Given the description of an element on the screen output the (x, y) to click on. 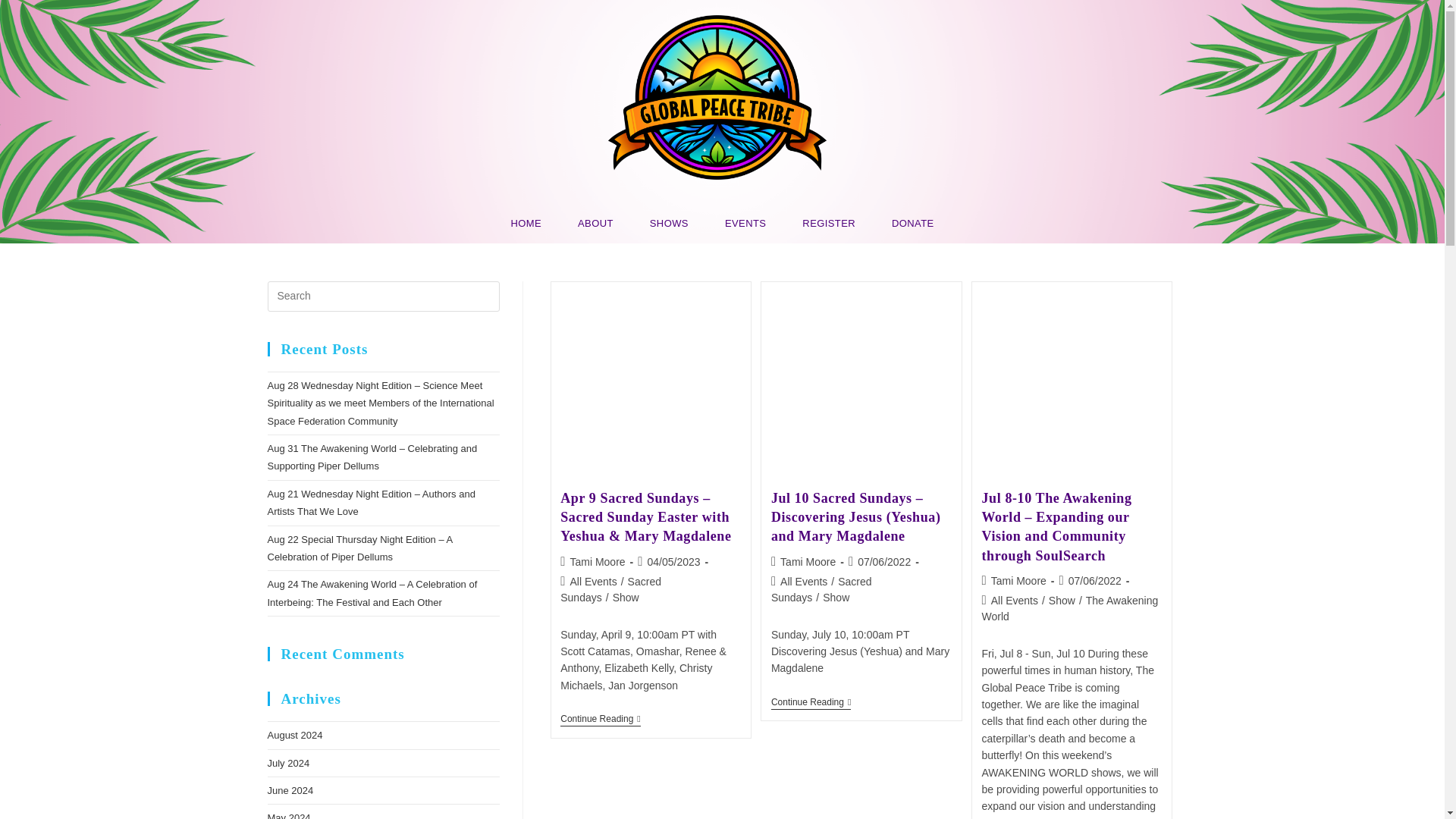
Posts by Tami Moore (596, 562)
EVENTS (745, 223)
Posts by Tami Moore (807, 562)
Posts by Tami Moore (1018, 580)
DONATE (912, 223)
All Events (592, 581)
Tami Moore (596, 562)
Sacred Sundays (610, 589)
ABOUT (595, 223)
SHOWS (668, 223)
